Given the description of an element on the screen output the (x, y) to click on. 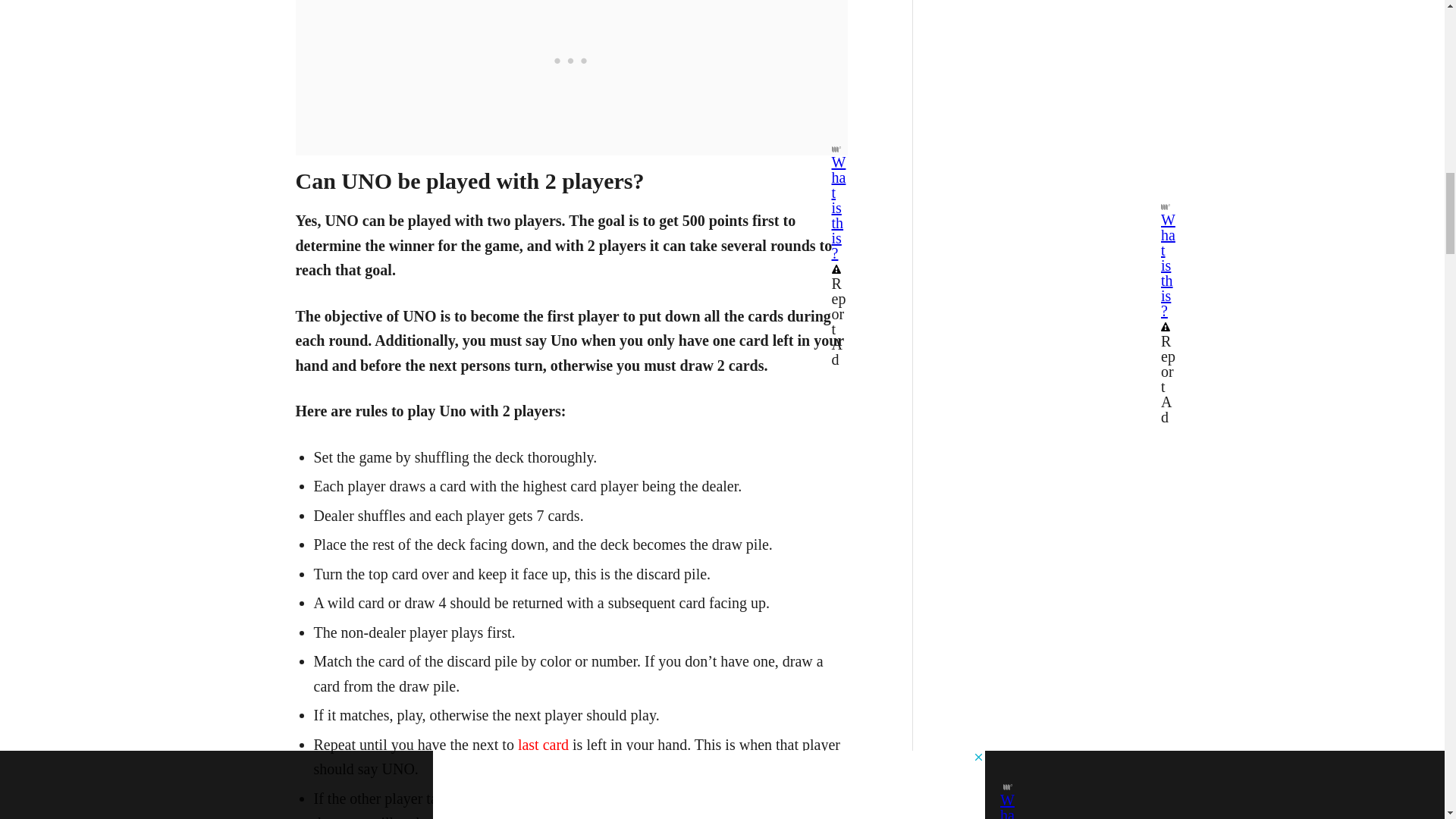
3rd party ad content (571, 5)
last card (543, 744)
